Given the description of an element on the screen output the (x, y) to click on. 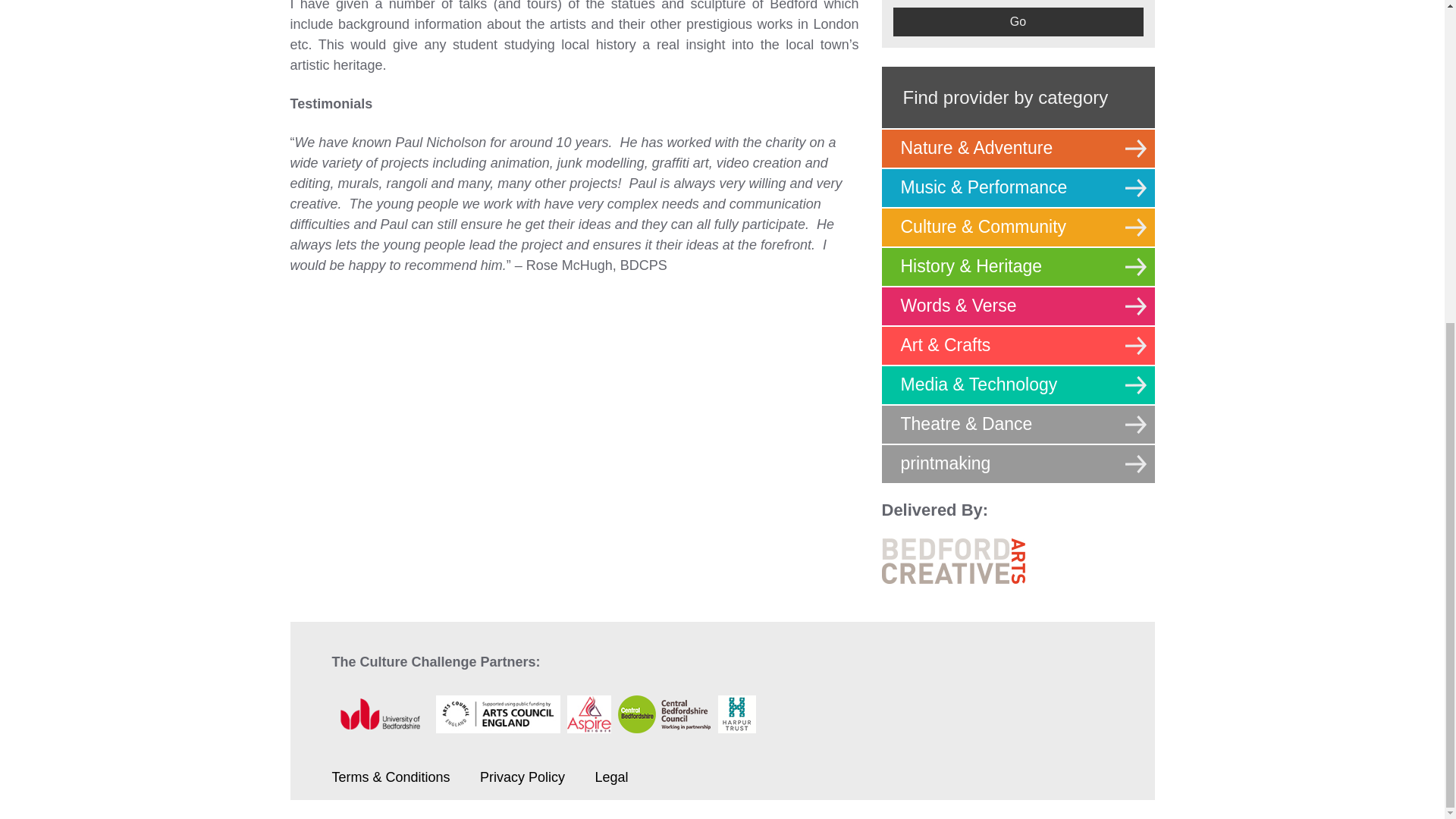
Go (1017, 21)
Go (1017, 21)
Legal (610, 776)
printmaking (1017, 464)
Privacy Policy (522, 776)
